Given the description of an element on the screen output the (x, y) to click on. 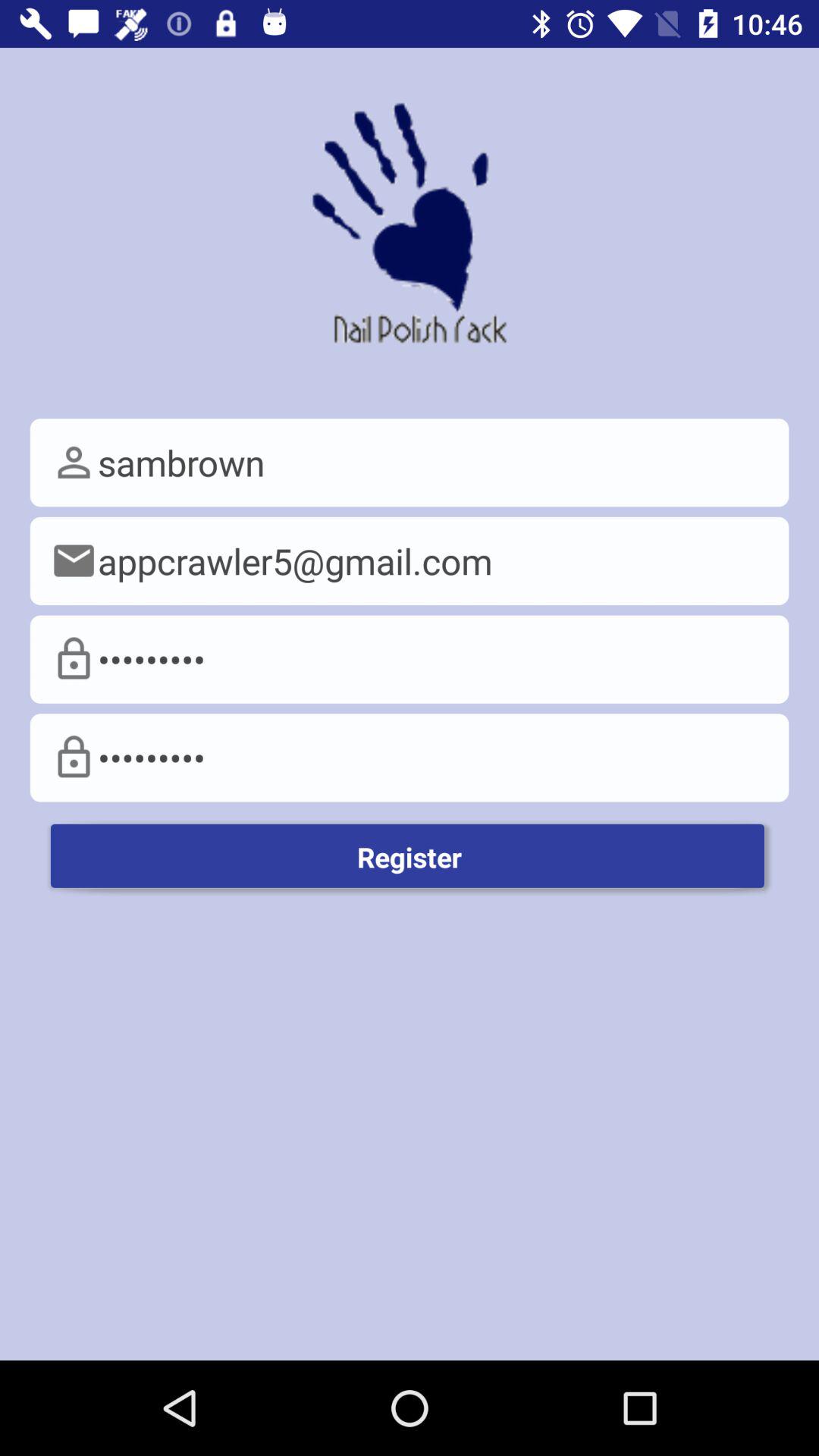
swipe until sambrown item (409, 462)
